Given the description of an element on the screen output the (x, y) to click on. 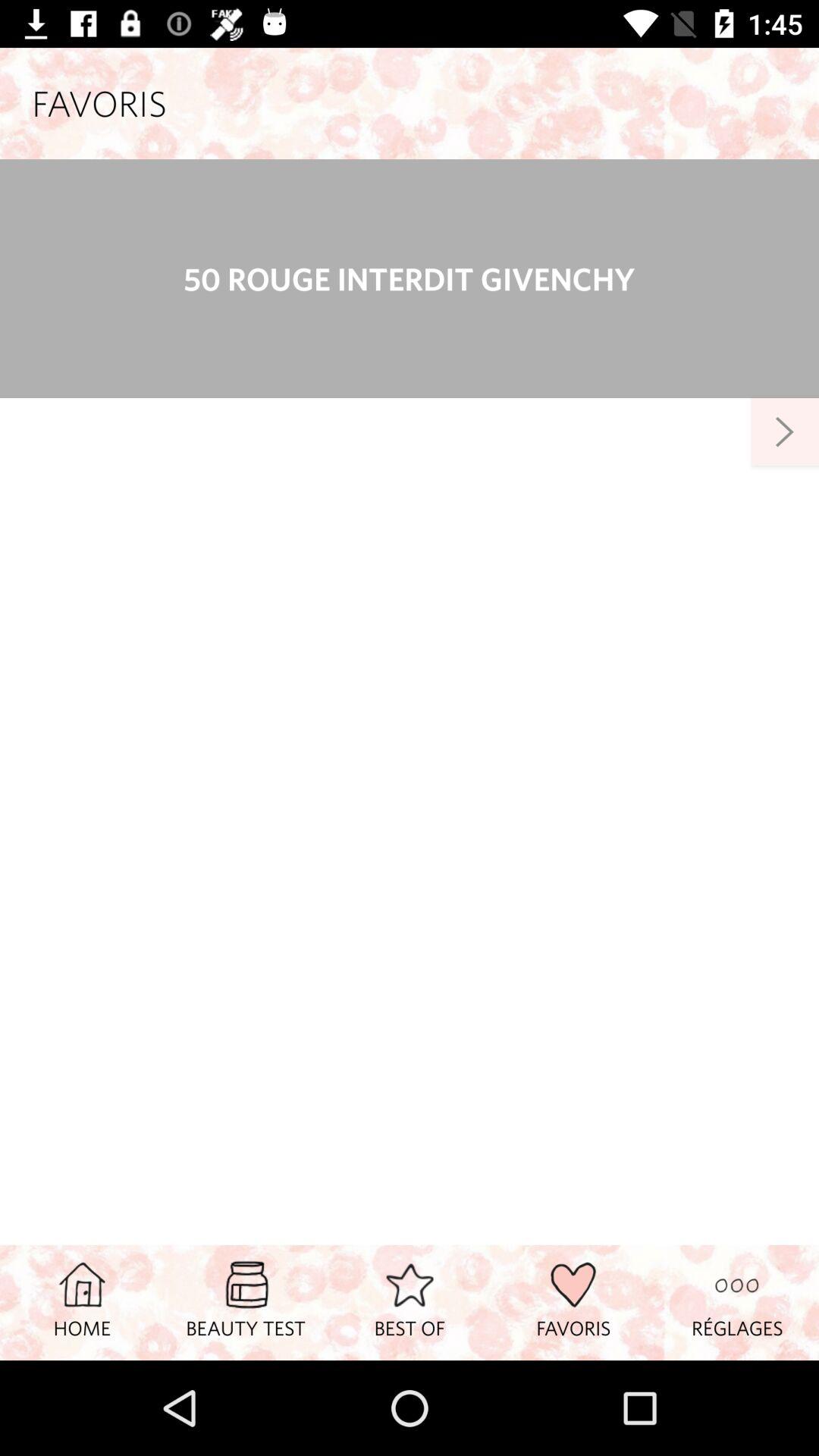
press icon to the left of the best of icon (245, 1302)
